Given the description of an element on the screen output the (x, y) to click on. 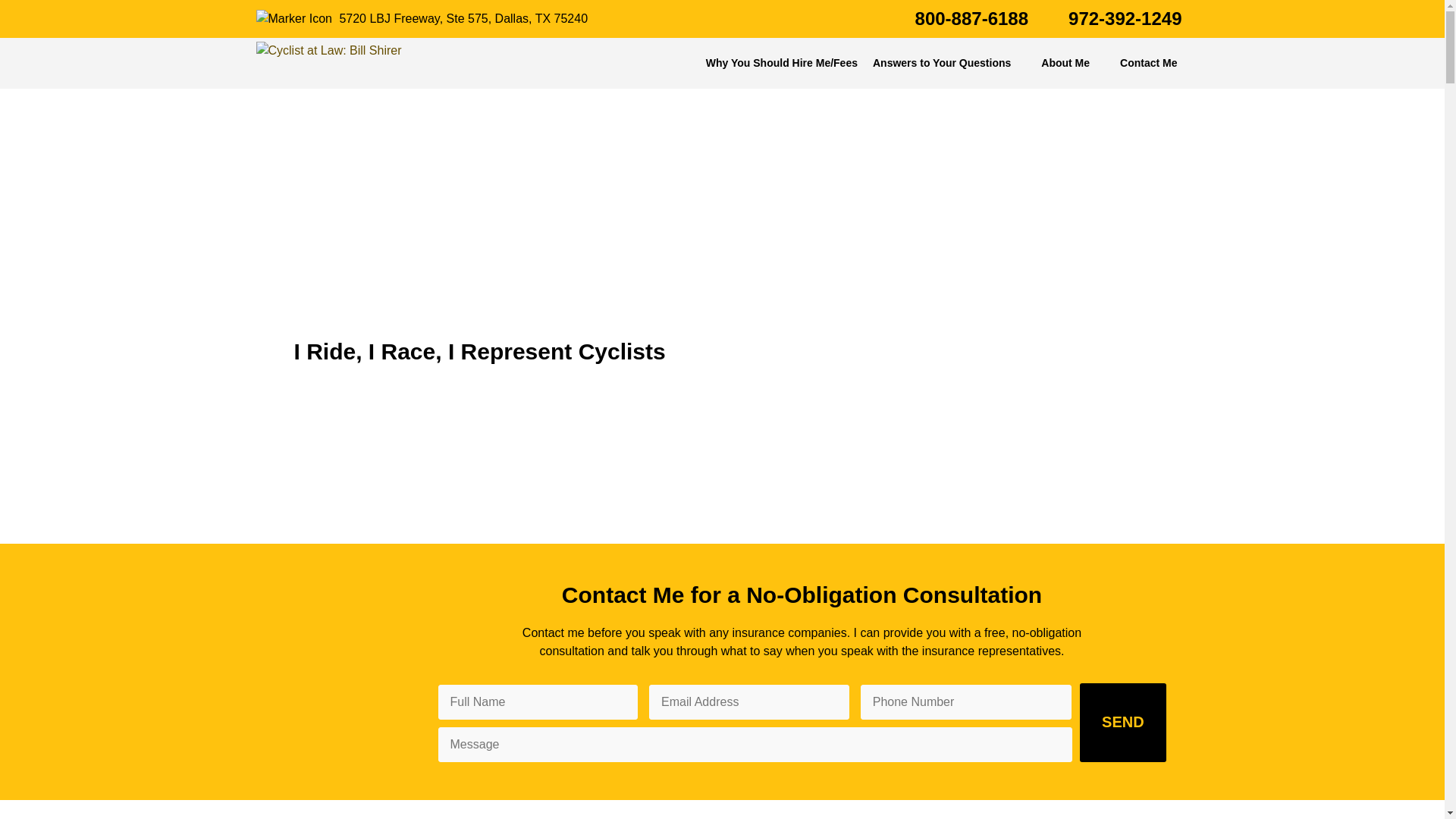
972-392-1249 (1111, 18)
Send (1123, 722)
Answers to Your Questions (948, 62)
800-887-6188 (957, 18)
About Me (1072, 62)
